Given the description of an element on the screen output the (x, y) to click on. 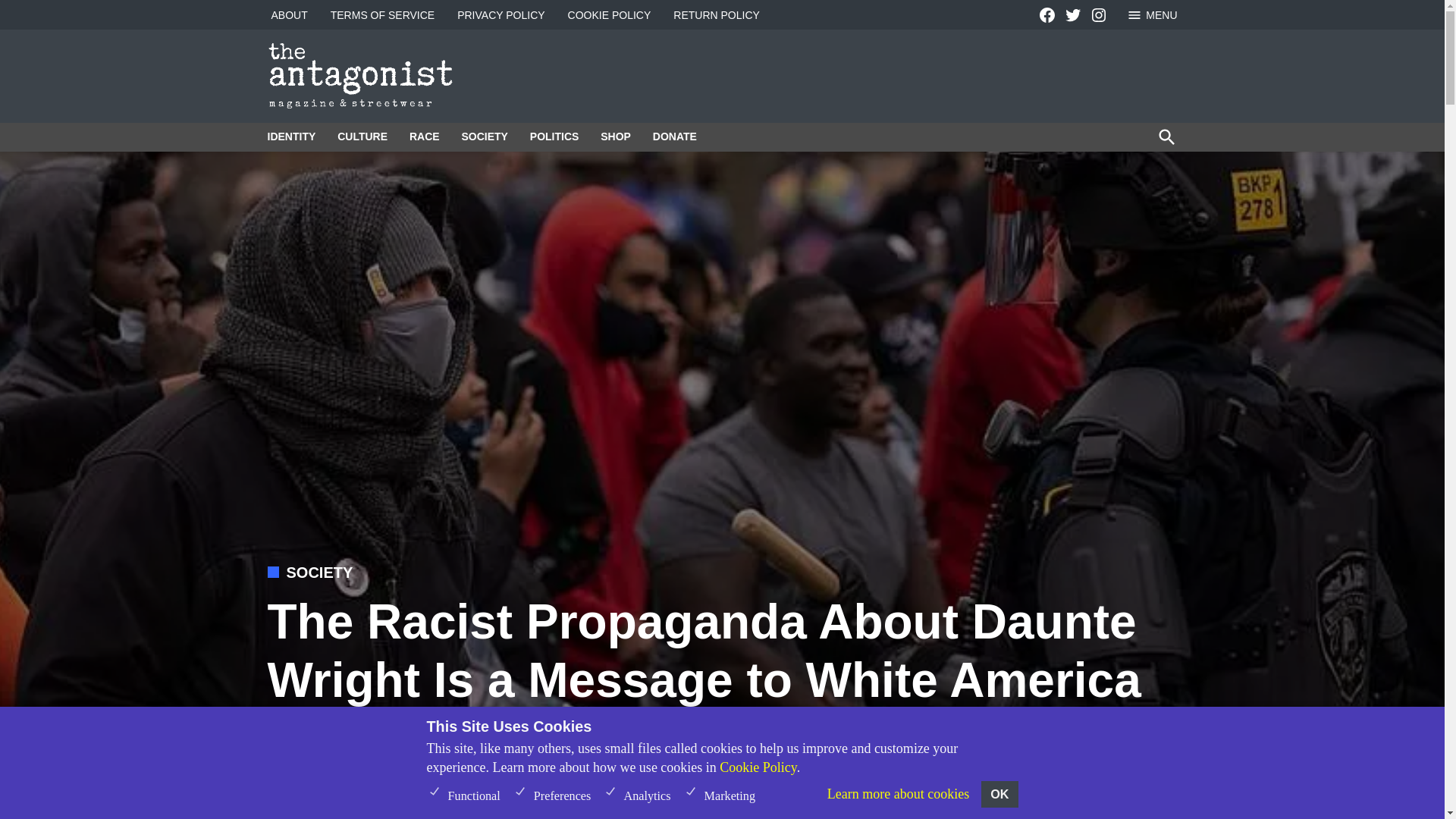
Facebook Page (1047, 15)
TERMS OF SERVICE (382, 14)
CULTURE (362, 136)
SOCIETY (319, 572)
Click to share on Facebook (1020, 745)
PRIVACY POLICY (500, 14)
Click to share on Reddit (1076, 745)
1 (519, 790)
SOCIETY (483, 136)
IDENTITY (294, 136)
Click to share on WhatsApp (1161, 745)
MENU (1151, 14)
1 (433, 790)
Arturo Dominguez (336, 745)
SHOP (615, 136)
